Given the description of an element on the screen output the (x, y) to click on. 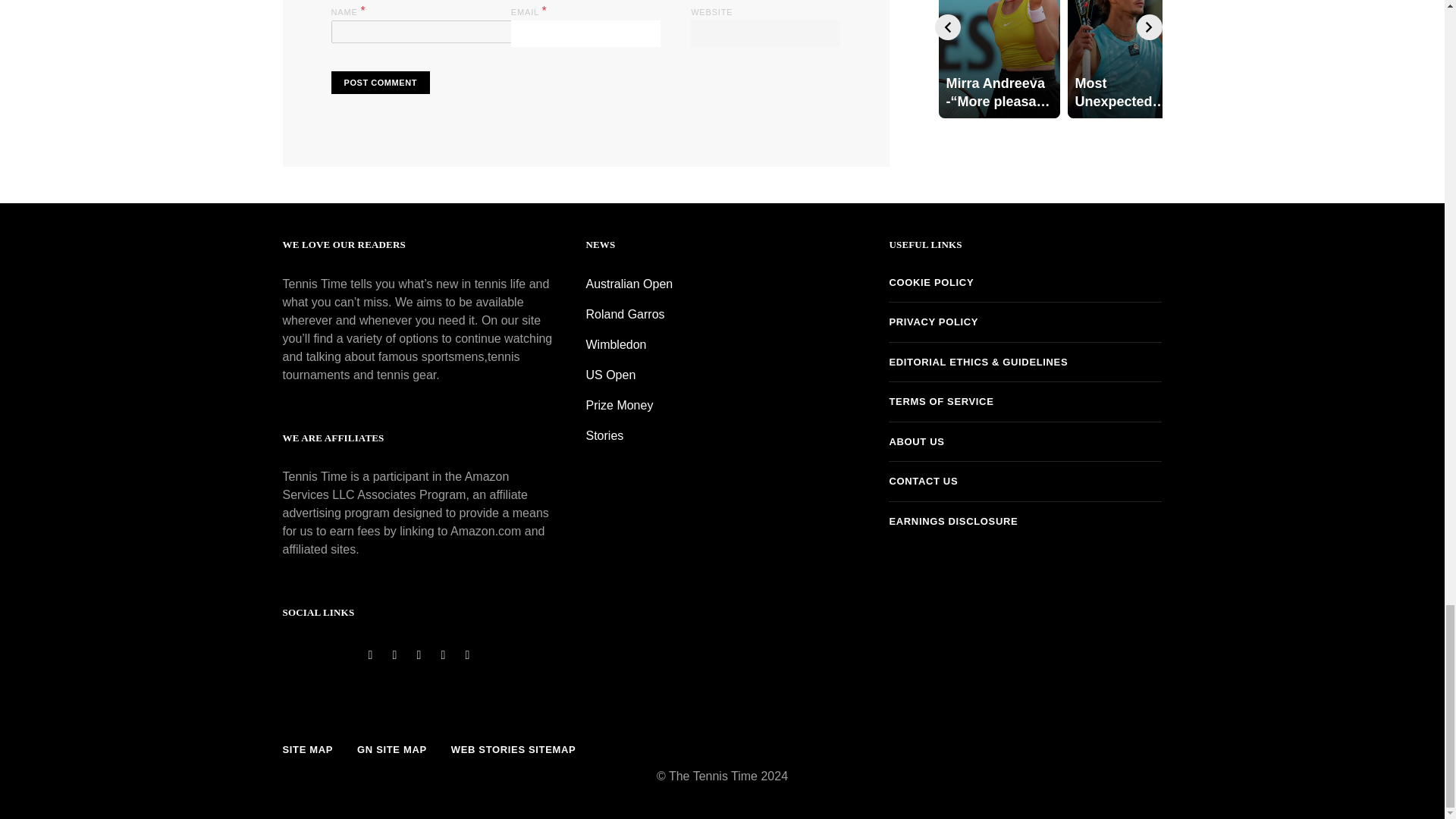
Post Comment (379, 83)
